Given the description of an element on the screen output the (x, y) to click on. 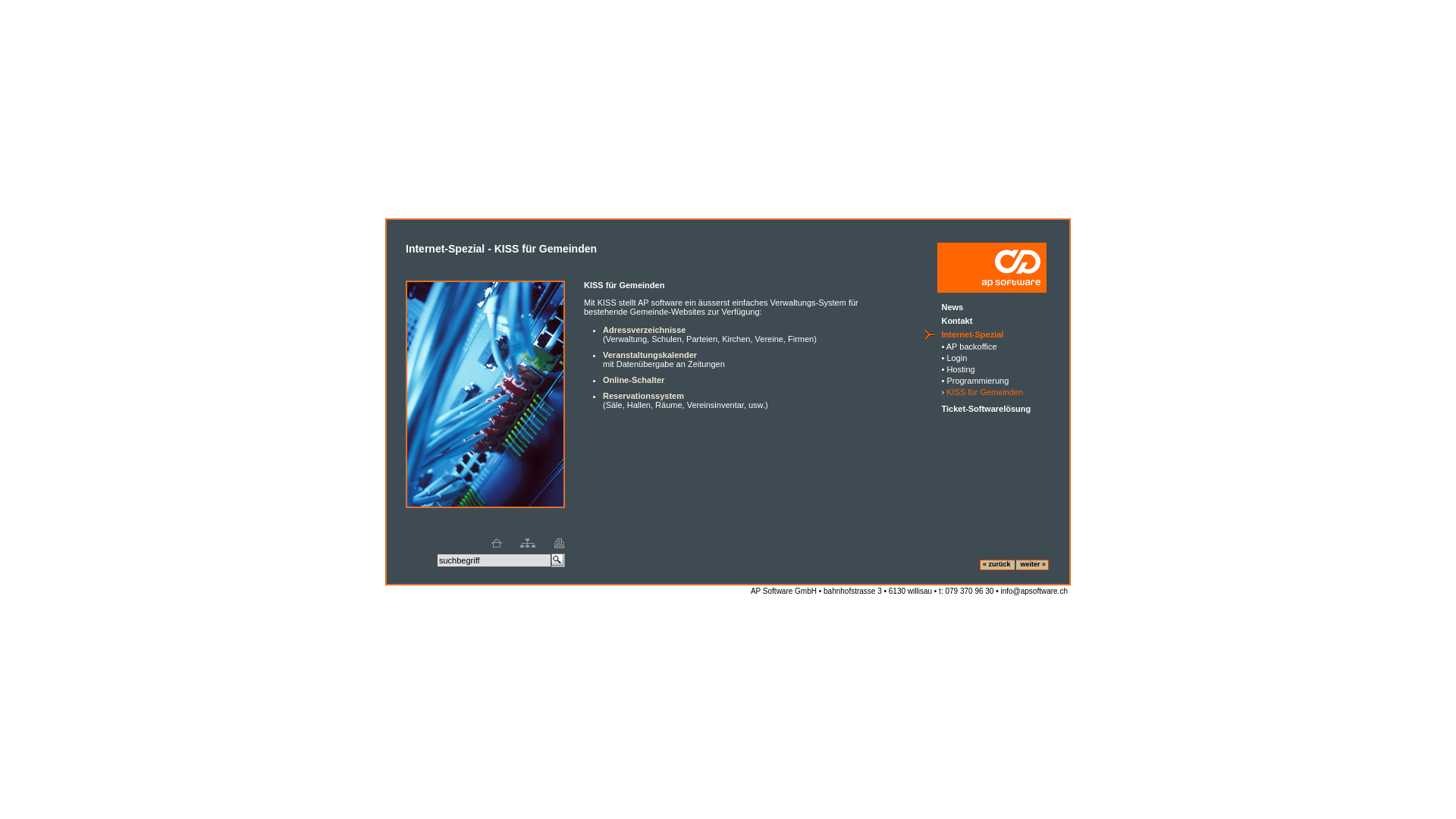
News Element type: text (952, 305)
Login Element type: text (956, 357)
Kontakt Element type: text (956, 319)
info@apsoftware.ch Element type: text (1033, 590)
weiter Element type: text (1029, 563)
Internet-Spezial Element type: text (972, 333)
AP backoffice Element type: text (971, 346)
Hosting Element type: text (960, 368)
Programmierung Element type: text (977, 380)
